Given the description of an element on the screen output the (x, y) to click on. 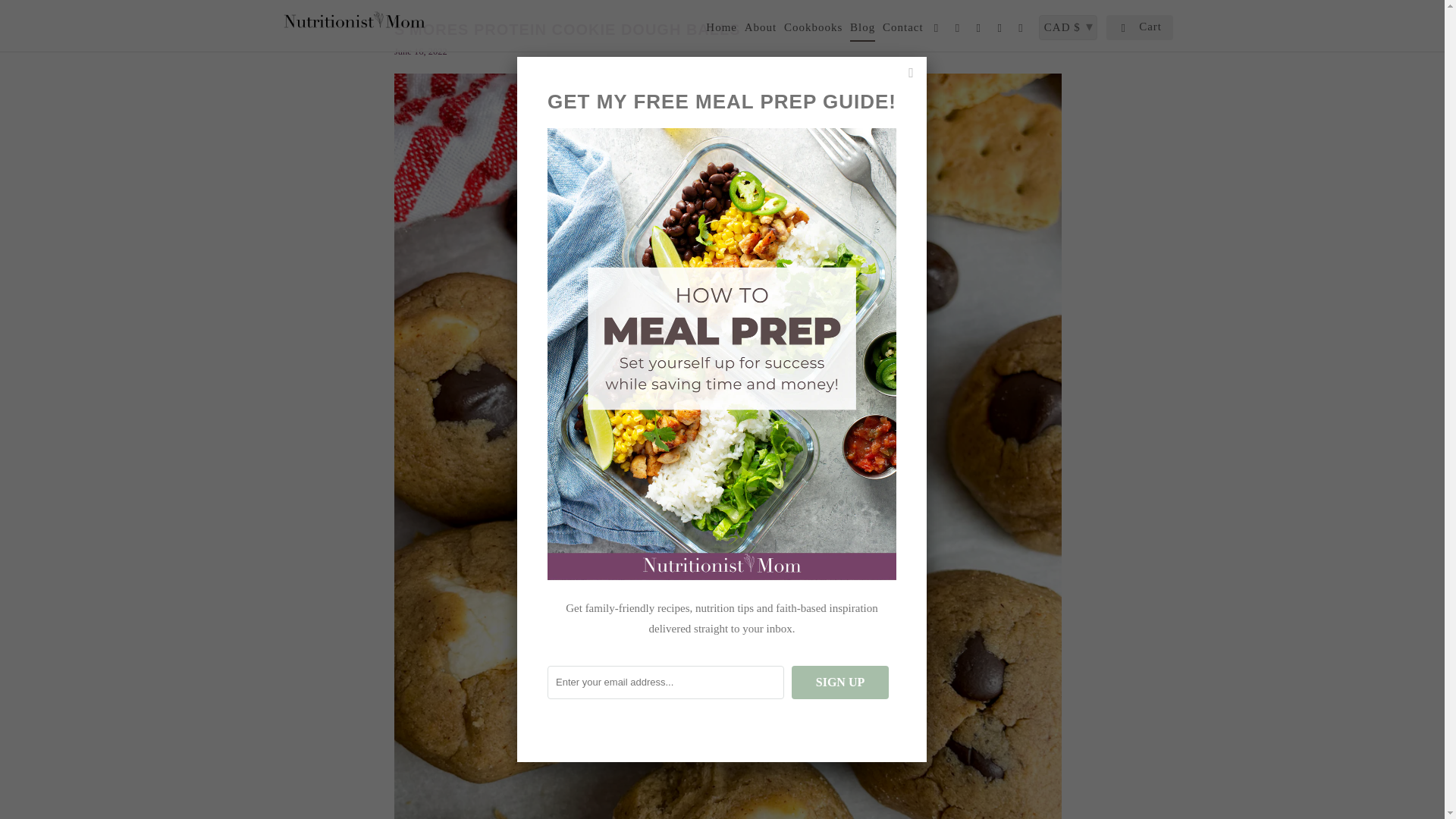
Sign Up (840, 682)
